Given the description of an element on the screen output the (x, y) to click on. 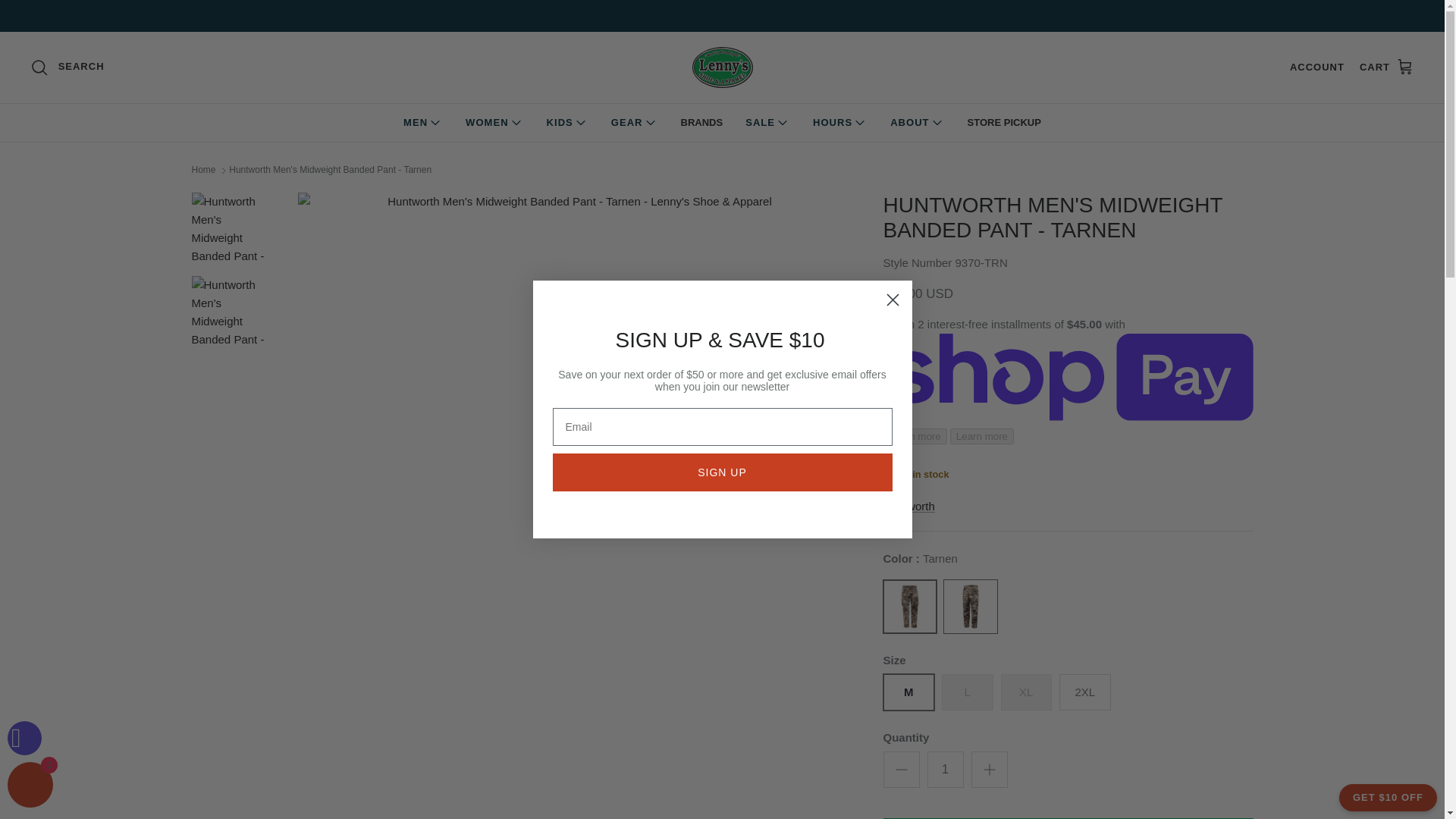
Plus (988, 769)
CART (1386, 66)
Minus (900, 769)
RIGHT (832, 468)
MEN (422, 122)
ACCOUNT (1316, 67)
Shopify online store chat (30, 786)
SEARCH (67, 67)
1 (944, 769)
